Given the description of an element on the screen output the (x, y) to click on. 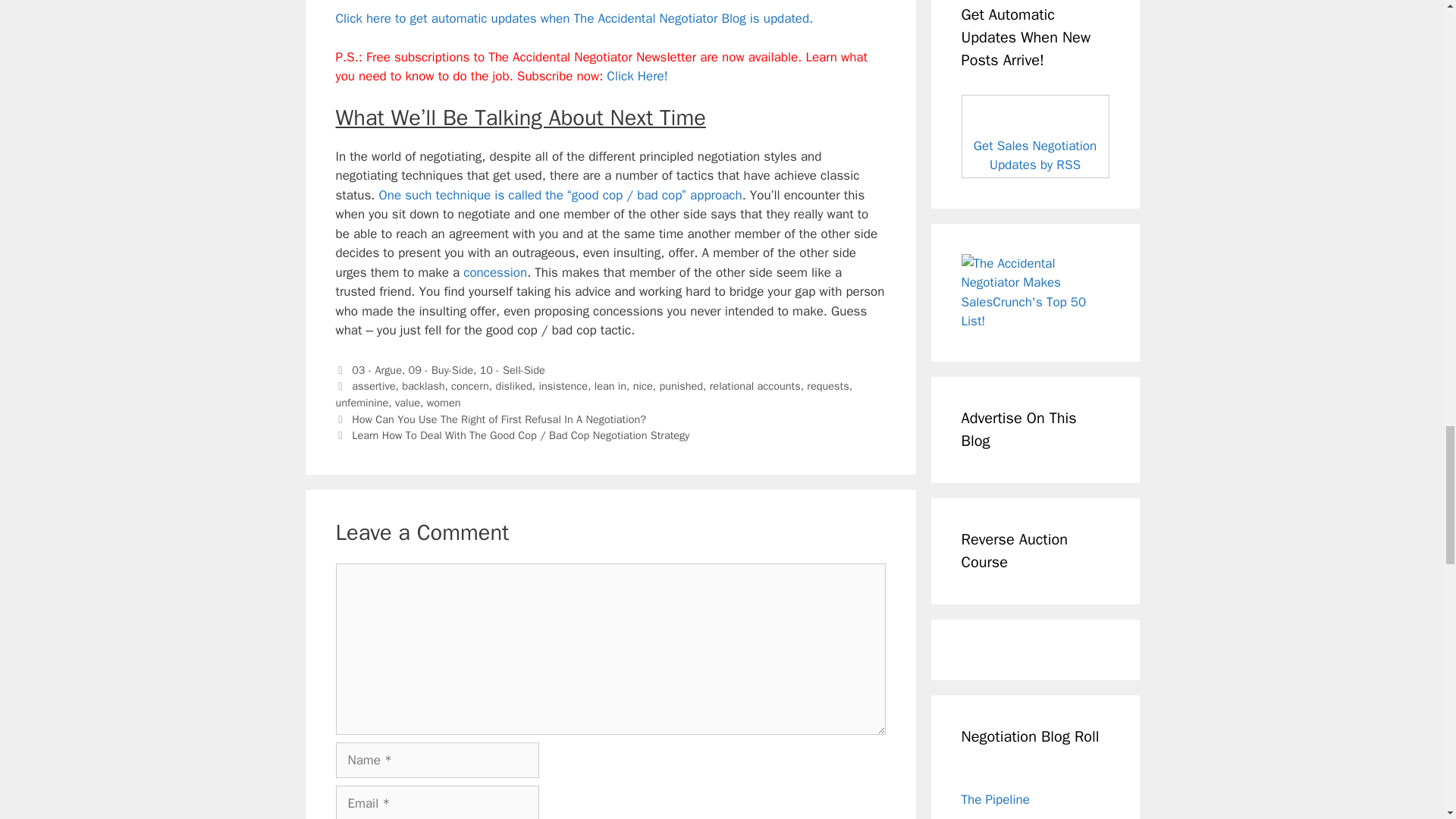
Subscribe to my feed (1034, 136)
assertive (373, 386)
Subscribe to my feed (573, 18)
insistence (563, 386)
Dealing With The Good Cop, Bad Cop Tactic (560, 195)
concern (470, 386)
What does concession mean? (495, 272)
women (443, 402)
unfeminine (361, 402)
lean in (610, 386)
